Given the description of an element on the screen output the (x, y) to click on. 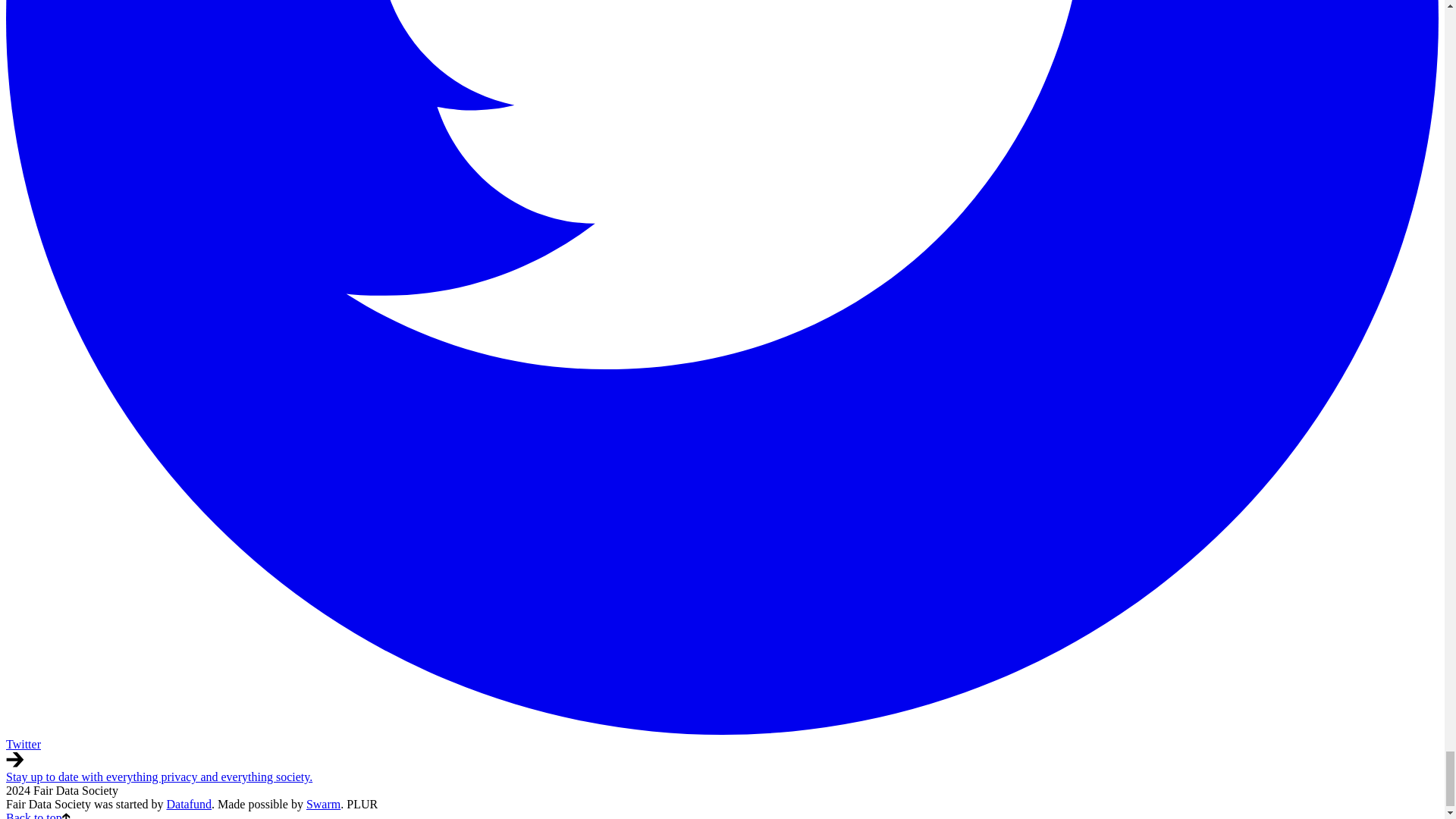
Datafund (189, 803)
Swarm (322, 803)
